Given the description of an element on the screen output the (x, y) to click on. 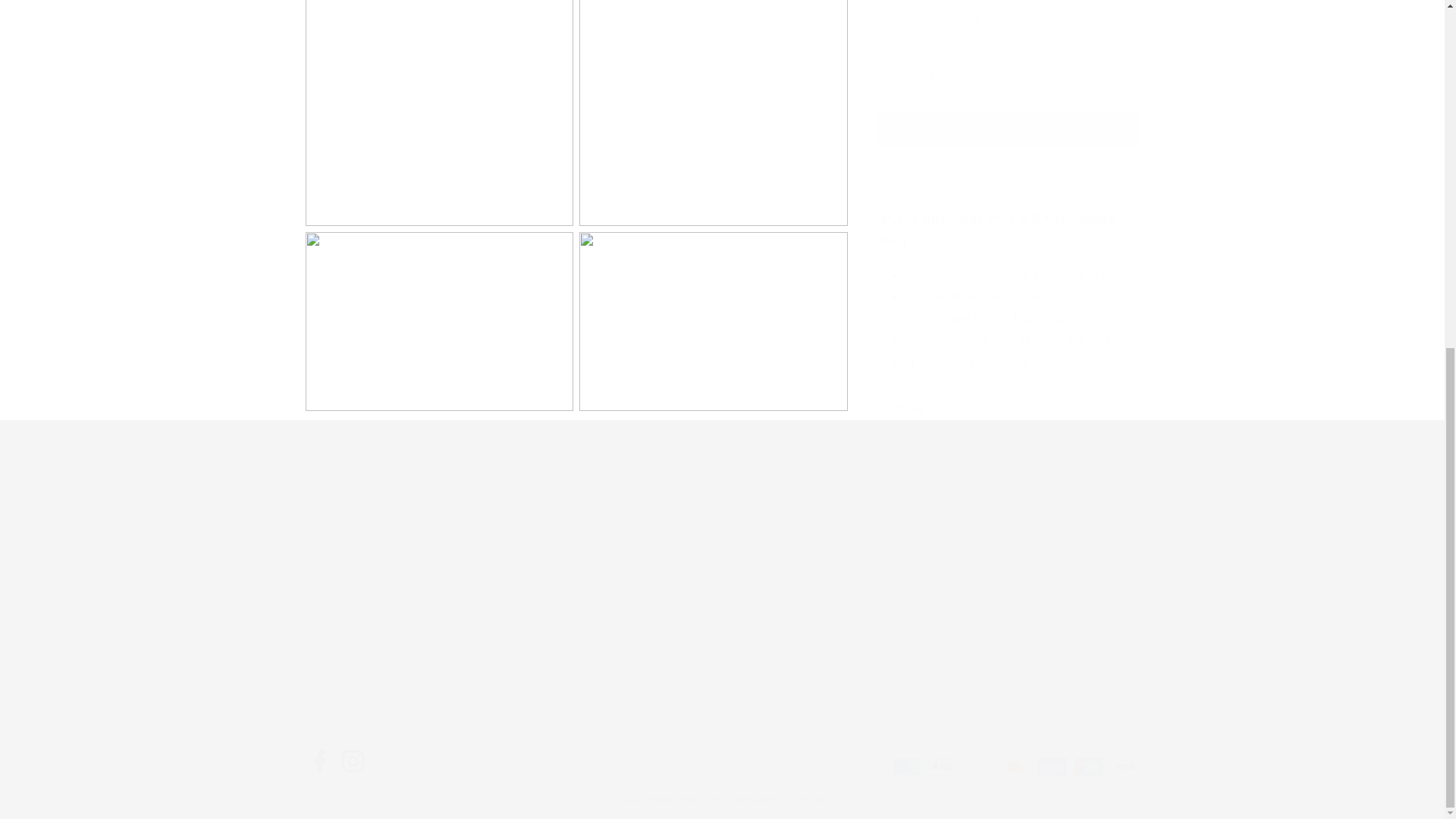
Open media 2 in modal (438, 105)
Open media 3 in modal (713, 105)
Open media 5 in modal (713, 306)
Open media 4 in modal (438, 306)
